Given the description of an element on the screen output the (x, y) to click on. 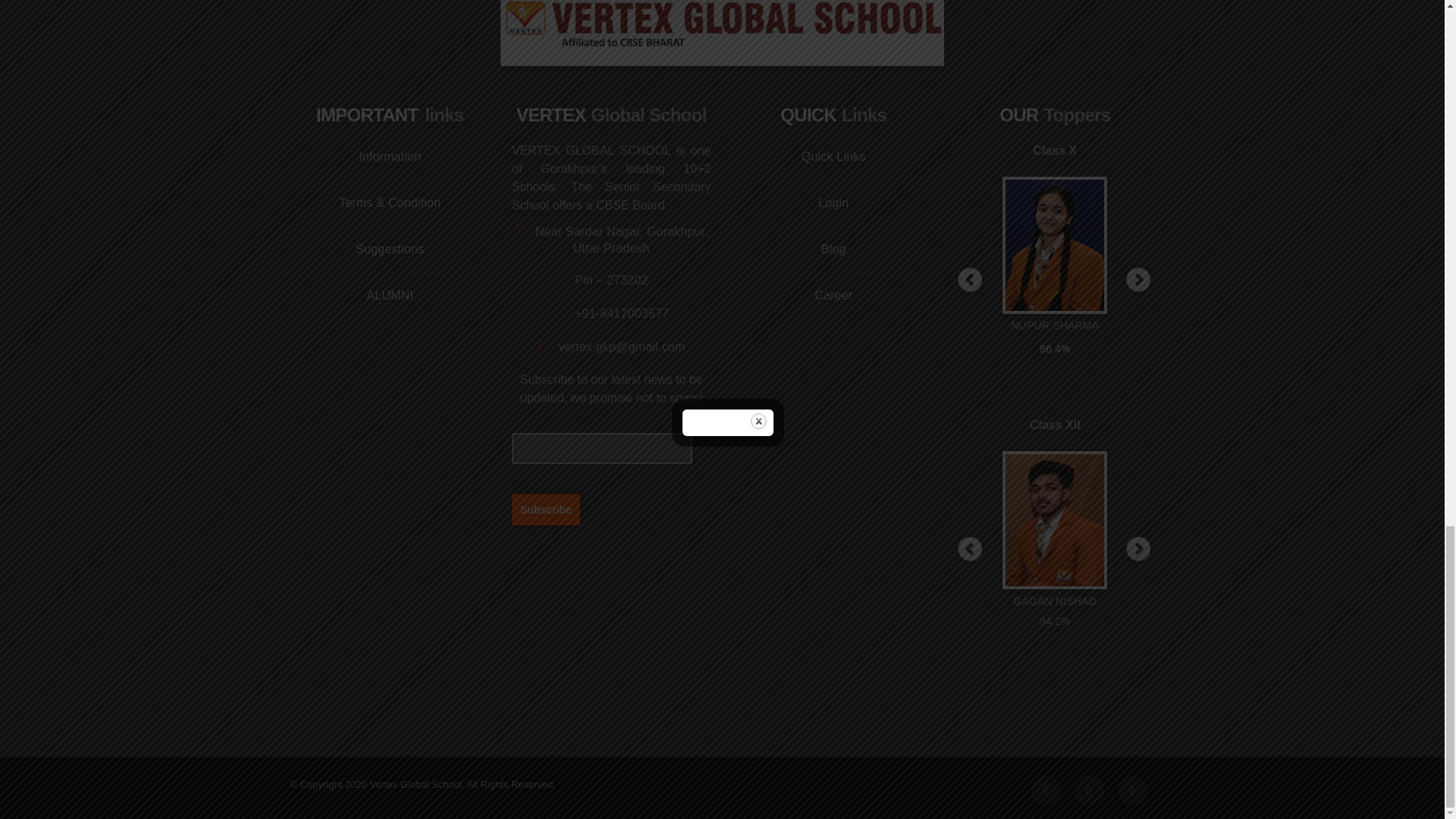
Subscribe (545, 508)
